Given the description of an element on the screen output the (x, y) to click on. 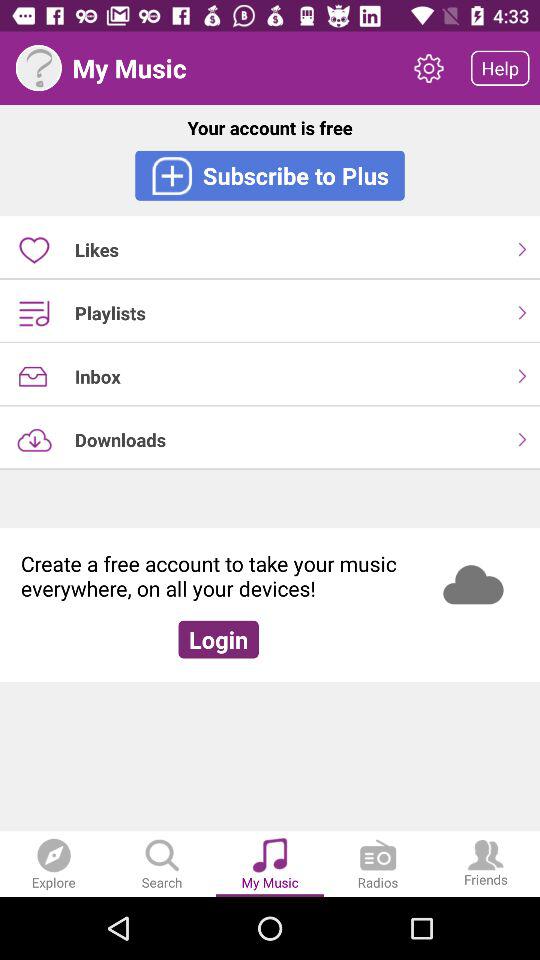
tap the item below your account is (269, 175)
